Given the description of an element on the screen output the (x, y) to click on. 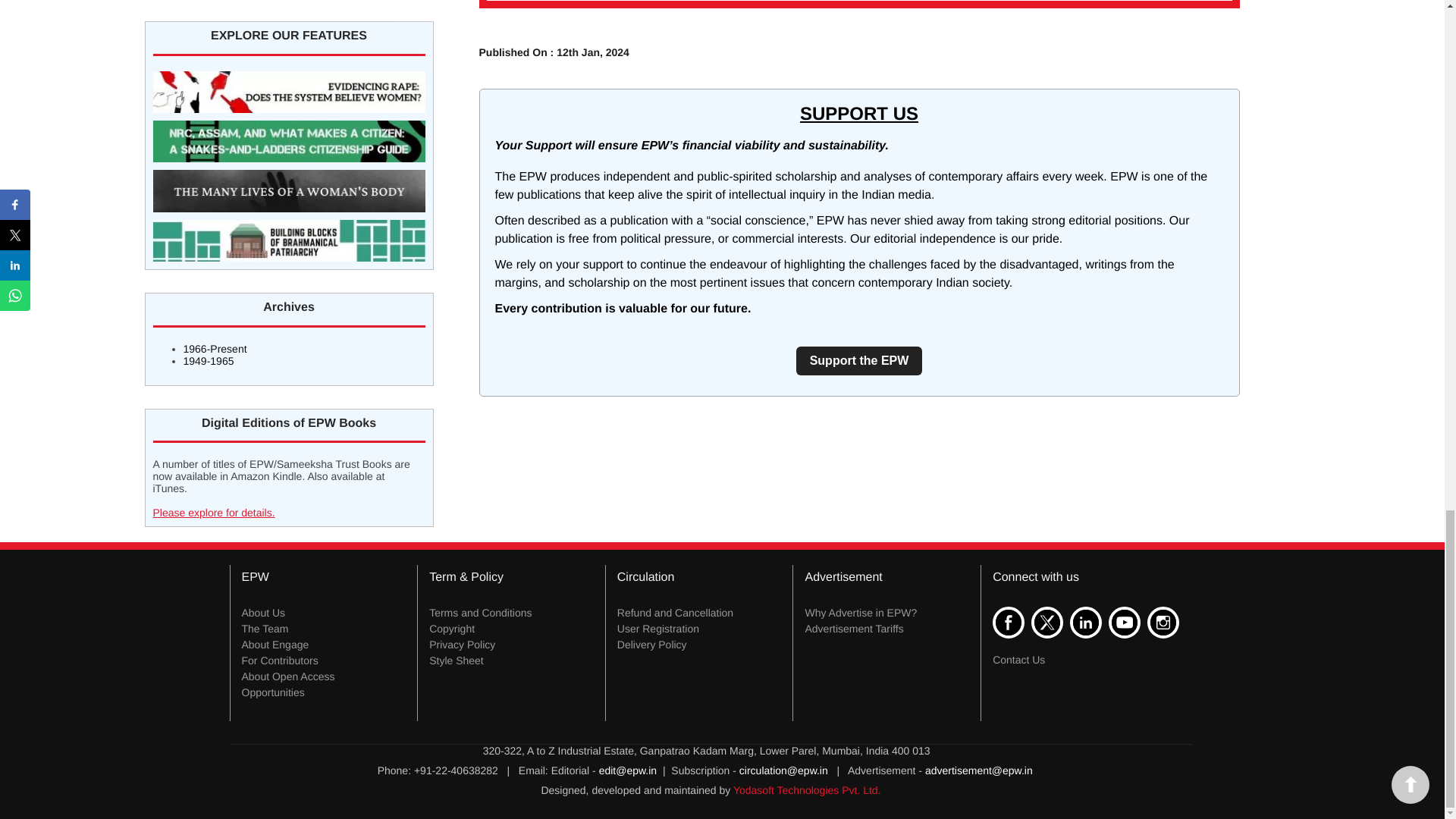
Support the EPW (859, 360)
